Given the description of an element on the screen output the (x, y) to click on. 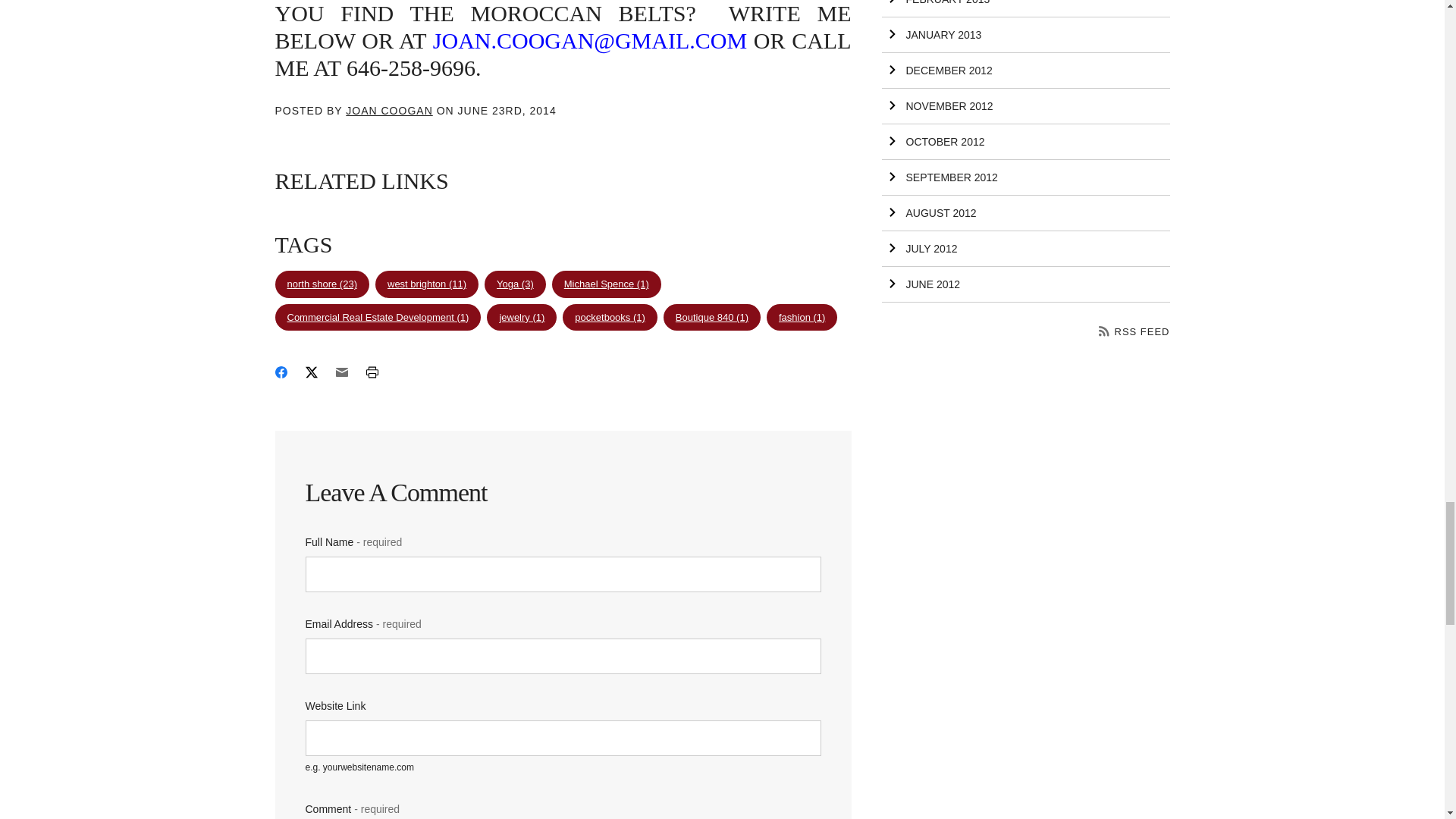
west brighton (427, 284)
north shore (322, 284)
Michael Spence (606, 284)
Boutique 840 (711, 317)
pocketbooks (610, 317)
Yoga (515, 284)
JOAN COOGAN (389, 110)
jewelry (521, 317)
fashion (802, 317)
Commercial Real Estate Development (377, 317)
